Given the description of an element on the screen output the (x, y) to click on. 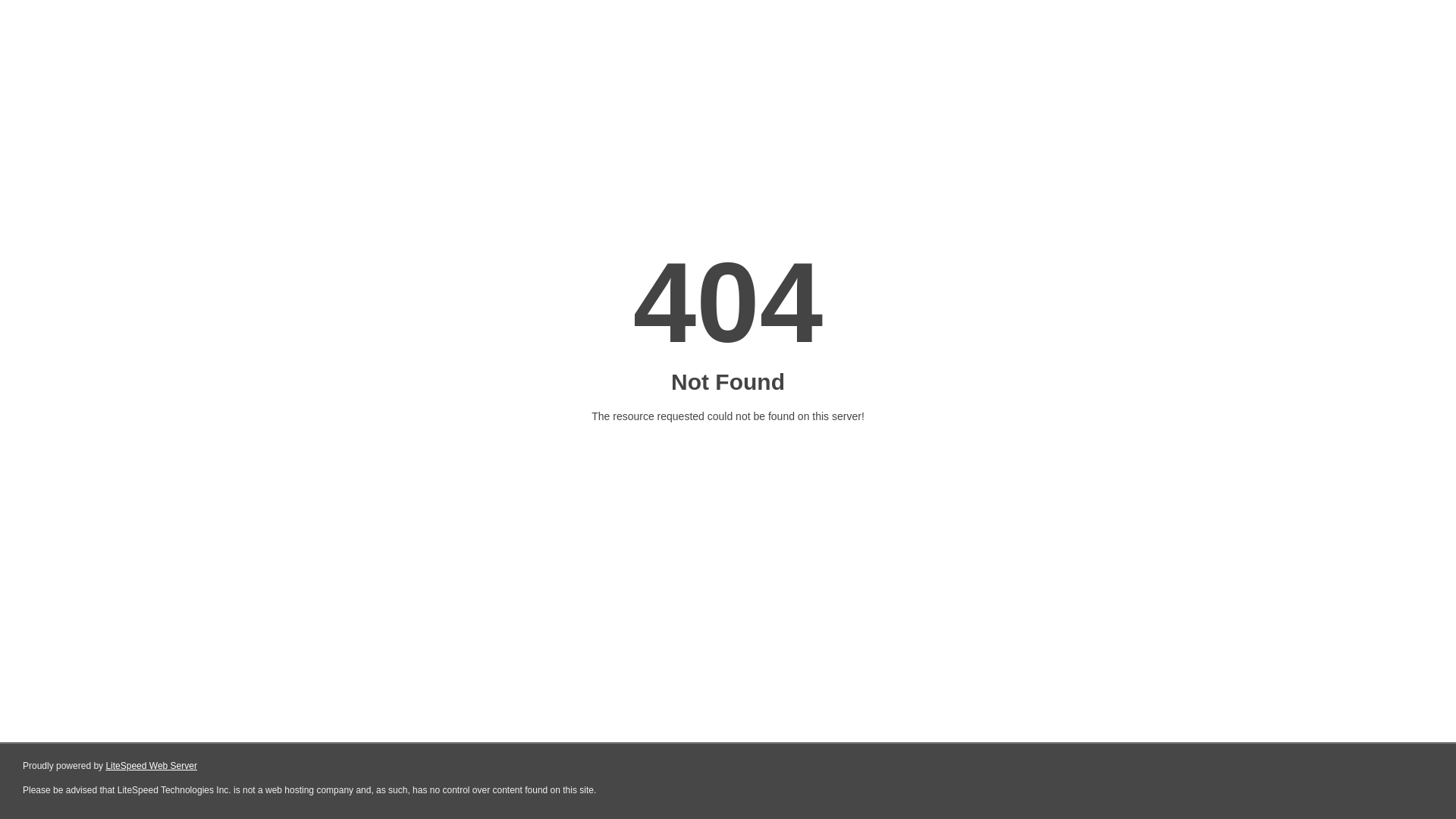
LiteSpeed Web Server Element type: text (151, 765)
